Given the description of an element on the screen output the (x, y) to click on. 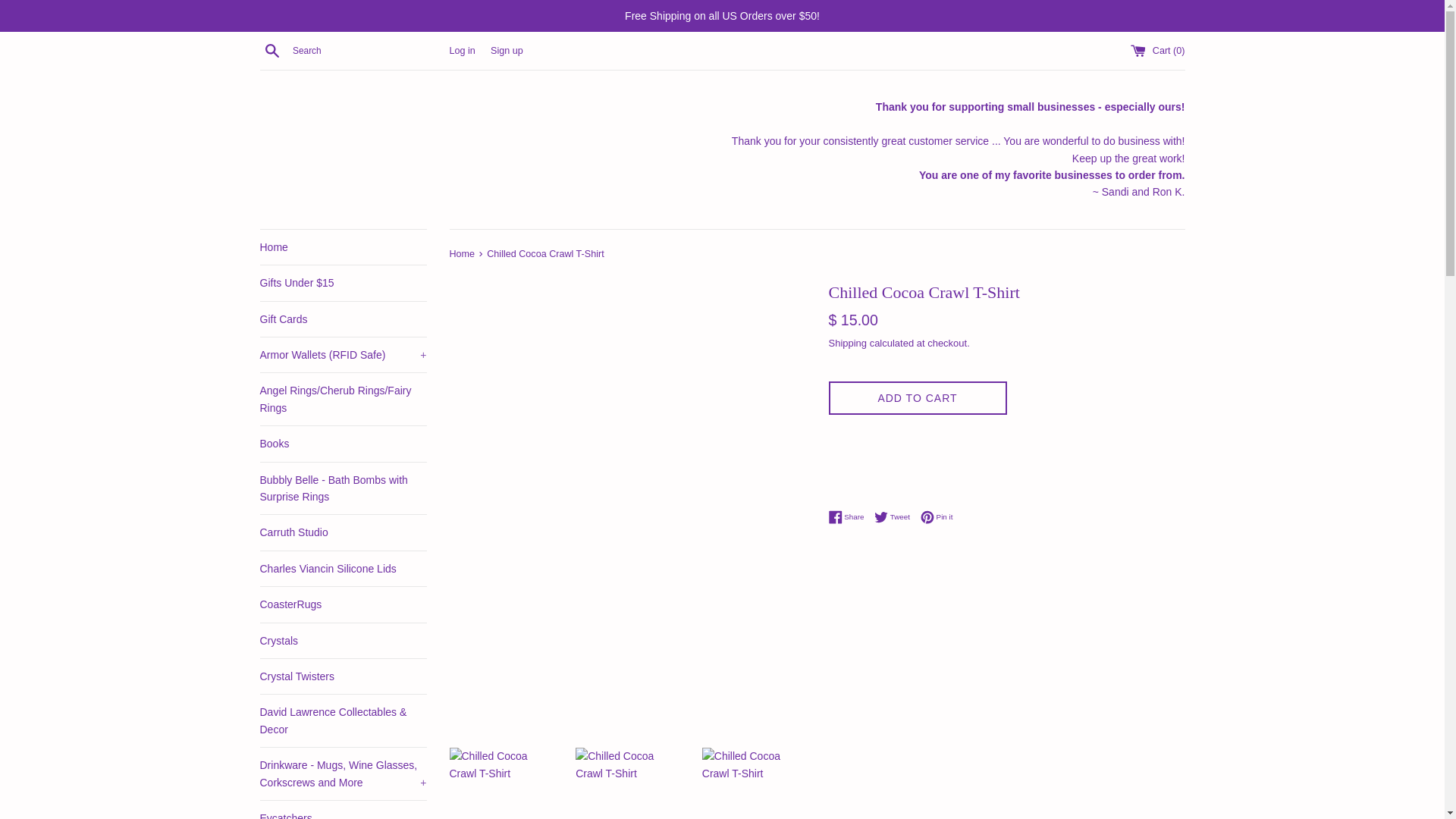
Pin on Pinterest (936, 517)
Log in (461, 50)
Back to the frontpage (462, 253)
Home (342, 247)
Eycatchers (342, 809)
Search (271, 49)
Carruth Studio (342, 532)
Share on Facebook (849, 517)
Gift Cards (342, 319)
Sign up (506, 50)
